Given the description of an element on the screen output the (x, y) to click on. 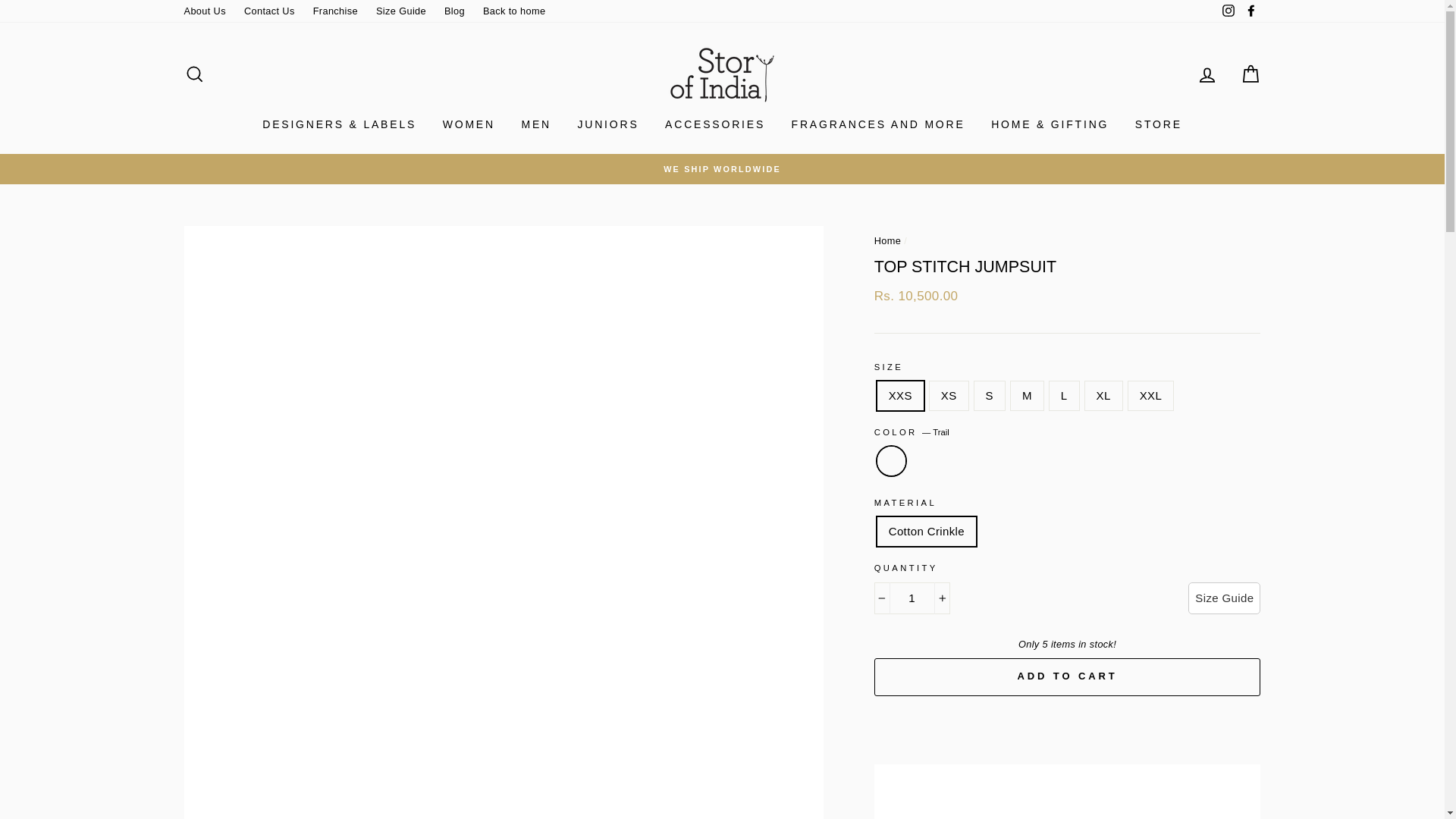
Size Chart (1224, 598)
1 (912, 598)
Back to the frontpage (888, 240)
